Given the description of an element on the screen output the (x, y) to click on. 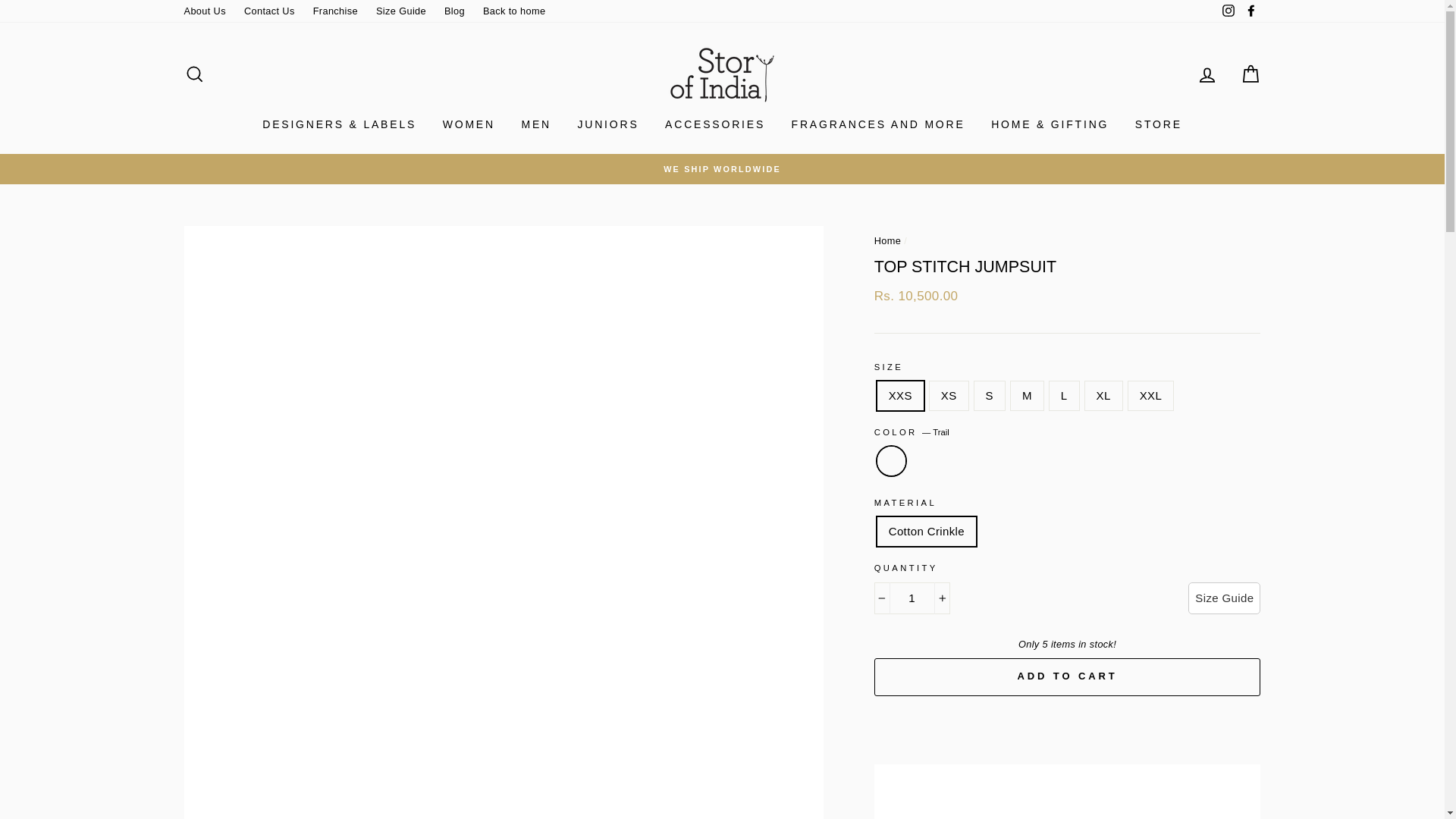
Size Chart (1224, 598)
1 (912, 598)
Back to the frontpage (888, 240)
